Given the description of an element on the screen output the (x, y) to click on. 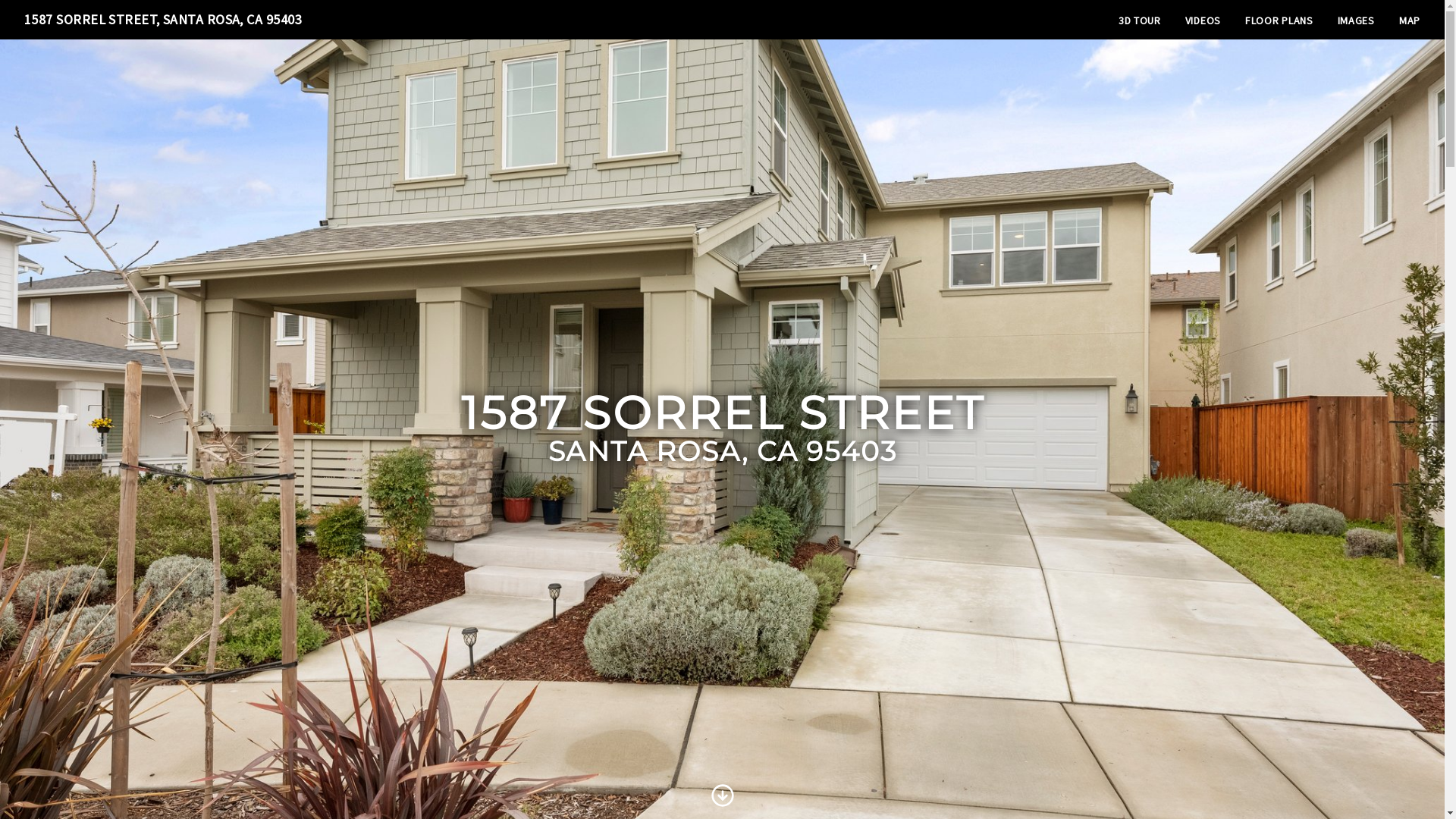
VIDEOS Element type: text (1203, 20)
FLOOR PLANS Element type: text (1279, 20)
IMAGES Element type: text (1355, 20)
3D TOUR Element type: text (1139, 20)
MAP Element type: text (1409, 20)
1587 SORREL STREET, SANTA ROSA, CA 95403 Element type: text (162, 19)
